Given the description of an element on the screen output the (x, y) to click on. 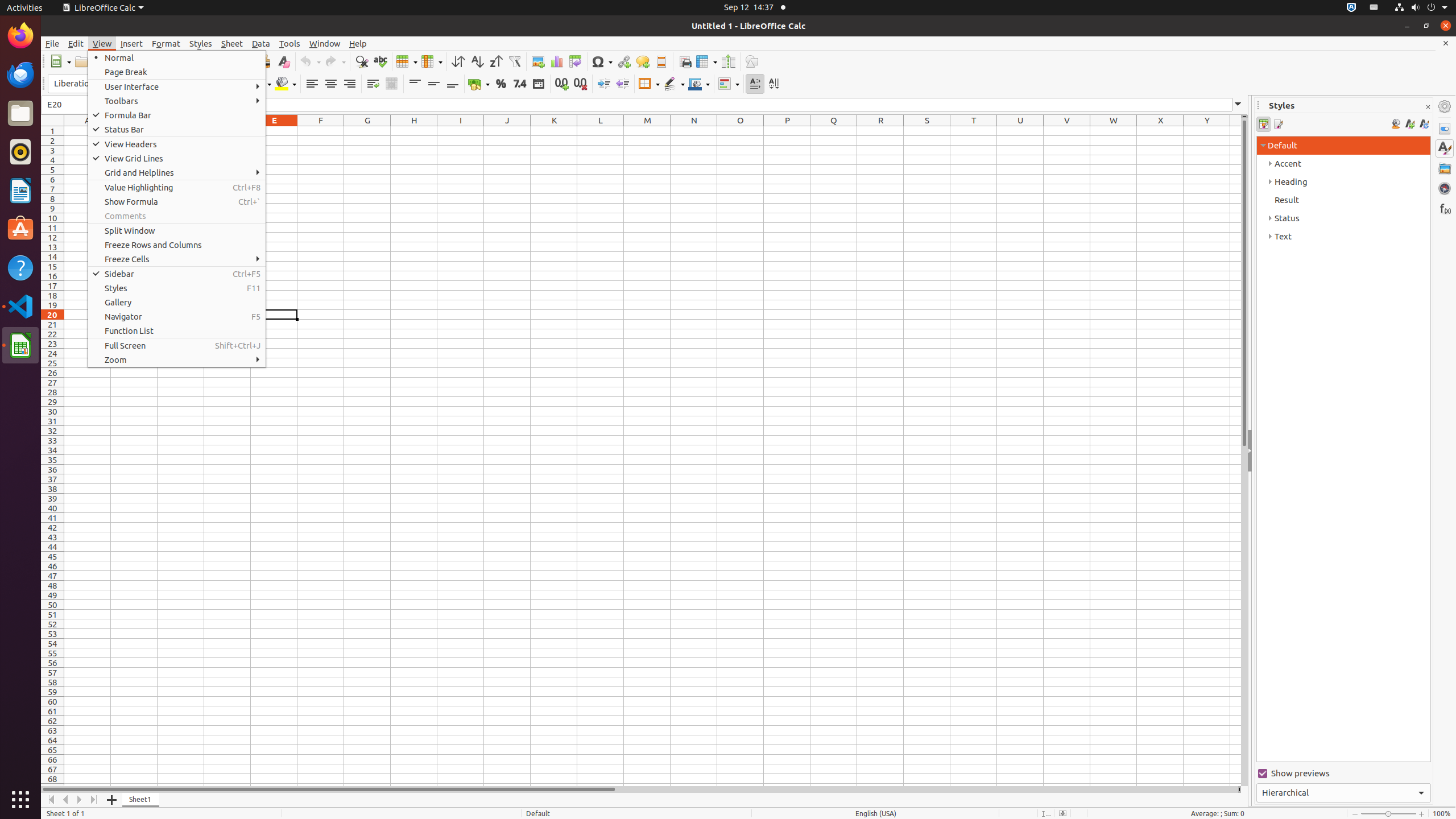
A1 Element type: table-cell (87, 130)
Tools Element type: menu (289, 43)
File Element type: menu (51, 43)
Currency Element type: push-button (478, 83)
Y1 Element type: table-cell (1206, 130)
